Given the description of an element on the screen output the (x, y) to click on. 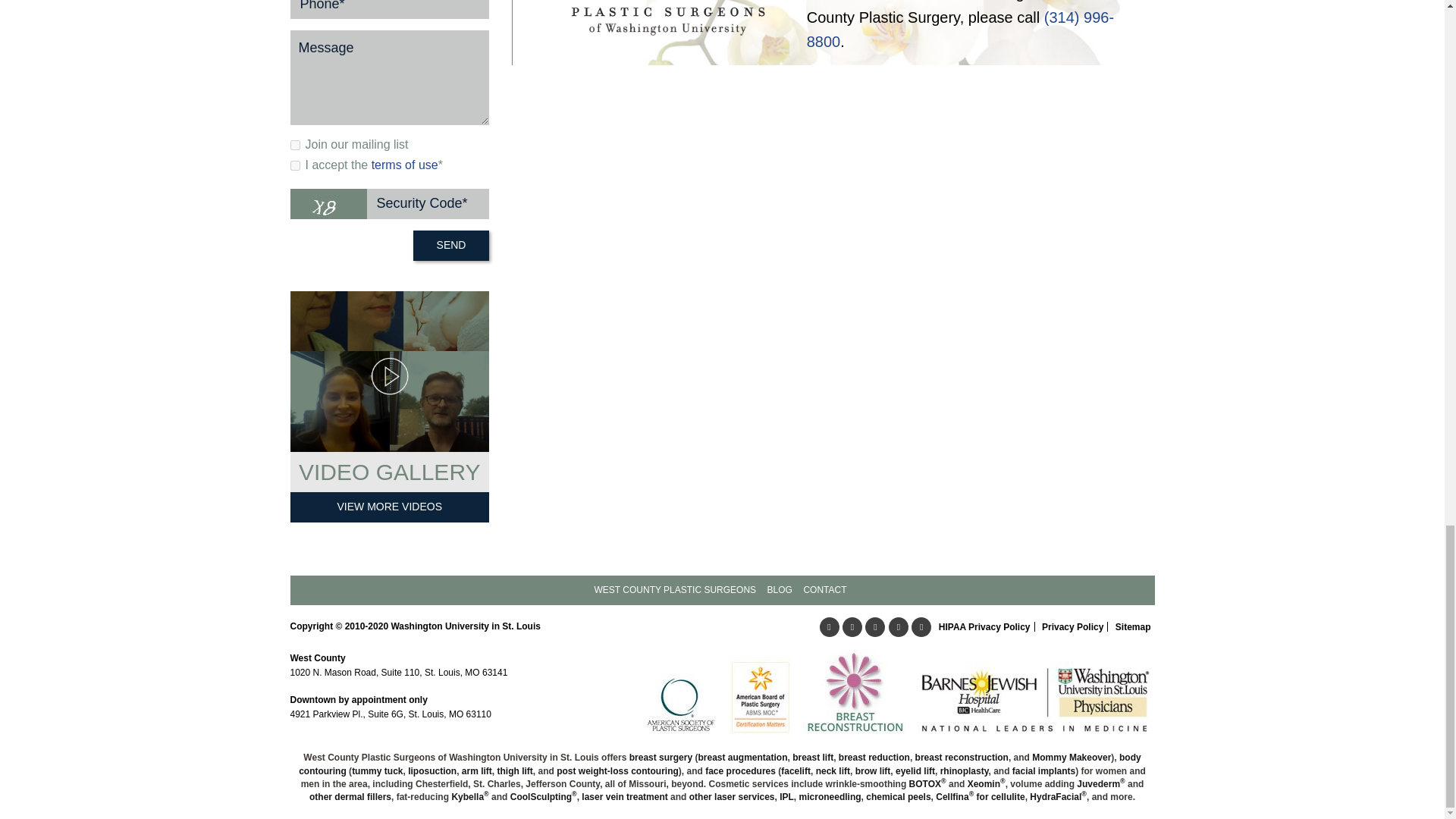
on (294, 144)
on (294, 165)
